Given the description of an element on the screen output the (x, y) to click on. 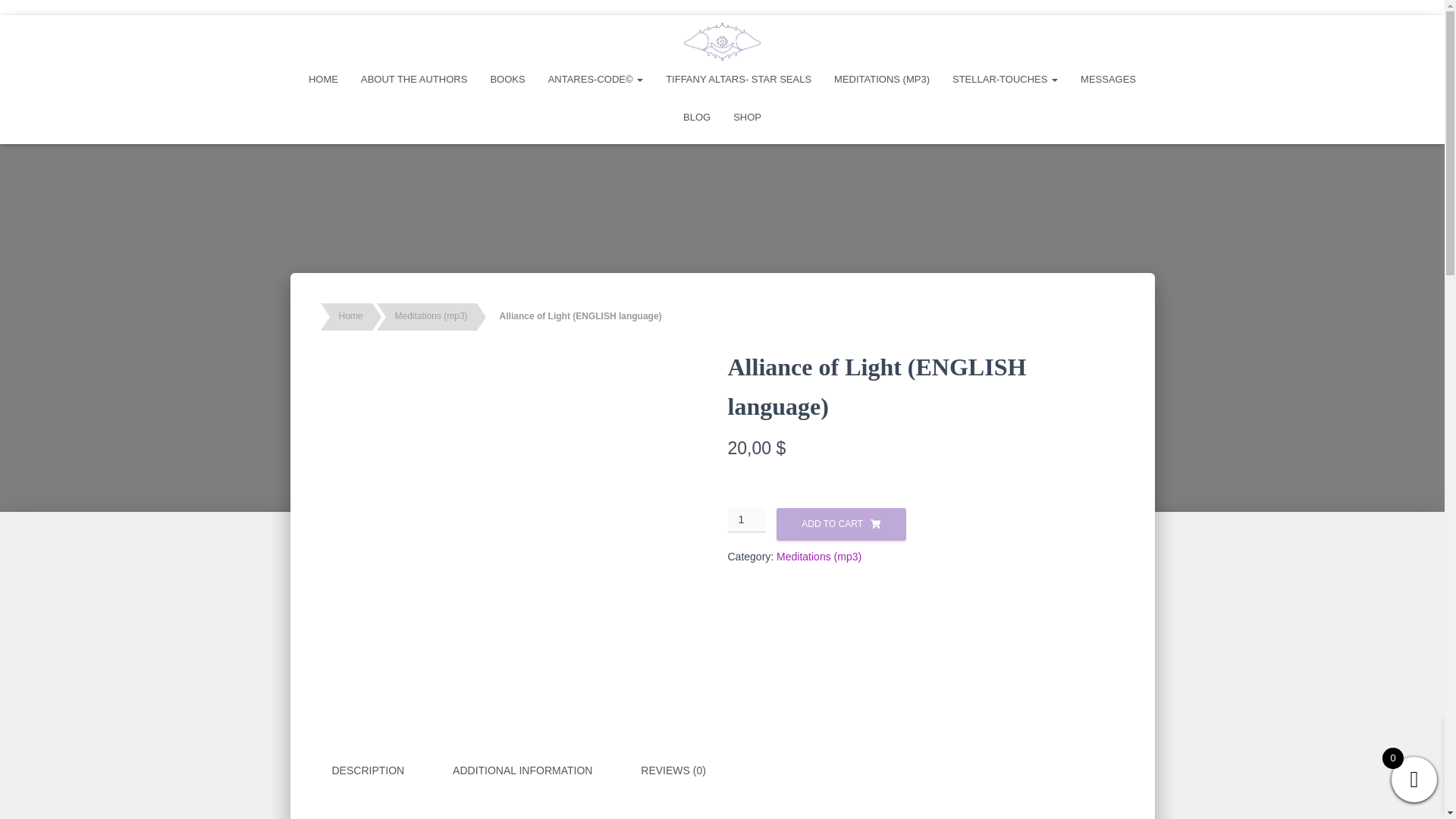
HOME (323, 79)
BLOG (696, 117)
MESSAGES (1107, 79)
Stellar-touches (1004, 79)
ABOUT THE AUTHORS (414, 79)
TIFFANY ALTARS- STAR SEALS (737, 79)
Home (350, 316)
Home (323, 79)
STELLAR-TOUCHES (1004, 79)
BOOKS (507, 79)
Books (507, 79)
ADDITIONAL INFORMATION (522, 770)
About the Authors (414, 79)
1 (747, 519)
Tiffany altars- star seals (737, 79)
